Given the description of an element on the screen output the (x, y) to click on. 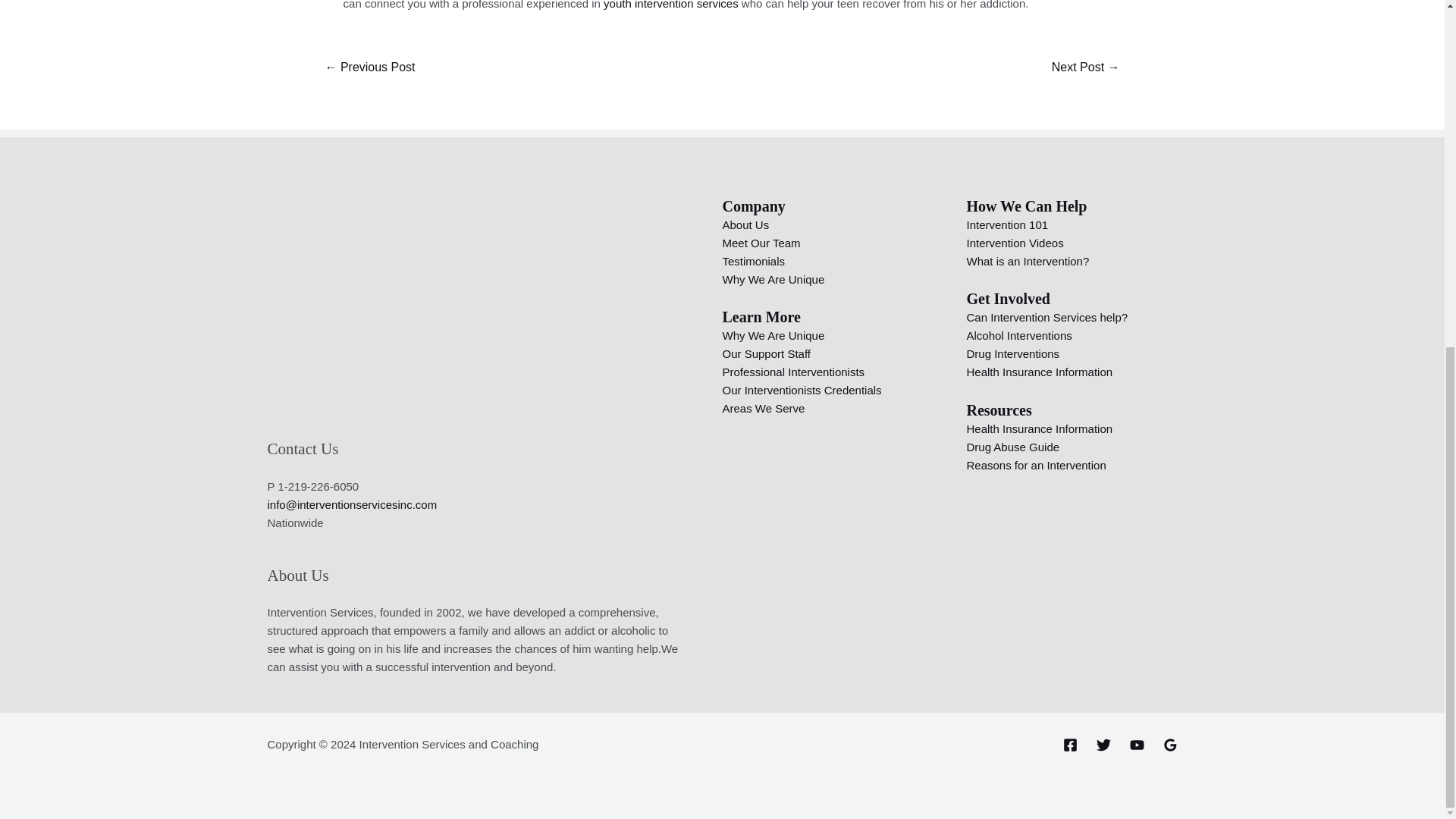
Alcoholism: Not just a male issue (368, 68)
Heroin use on the rise, with a new face (1085, 68)
